Given the description of an element on the screen output the (x, y) to click on. 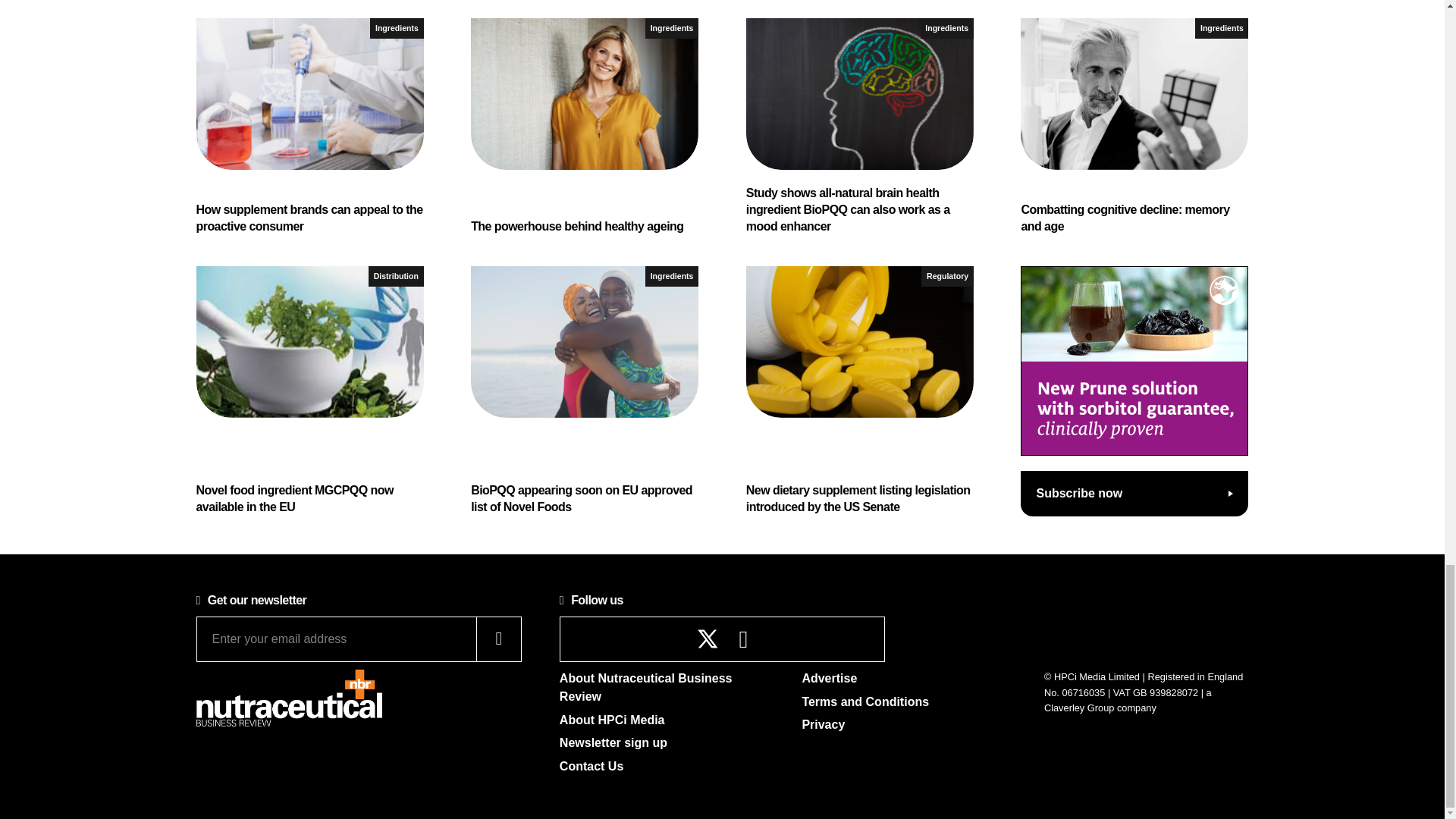
How supplement brands can appeal to the proactive consumer (309, 126)
Follow Nutraceutical Business Review on X (708, 639)
Ingredients (396, 28)
Ingredients (671, 28)
